Given the description of an element on the screen output the (x, y) to click on. 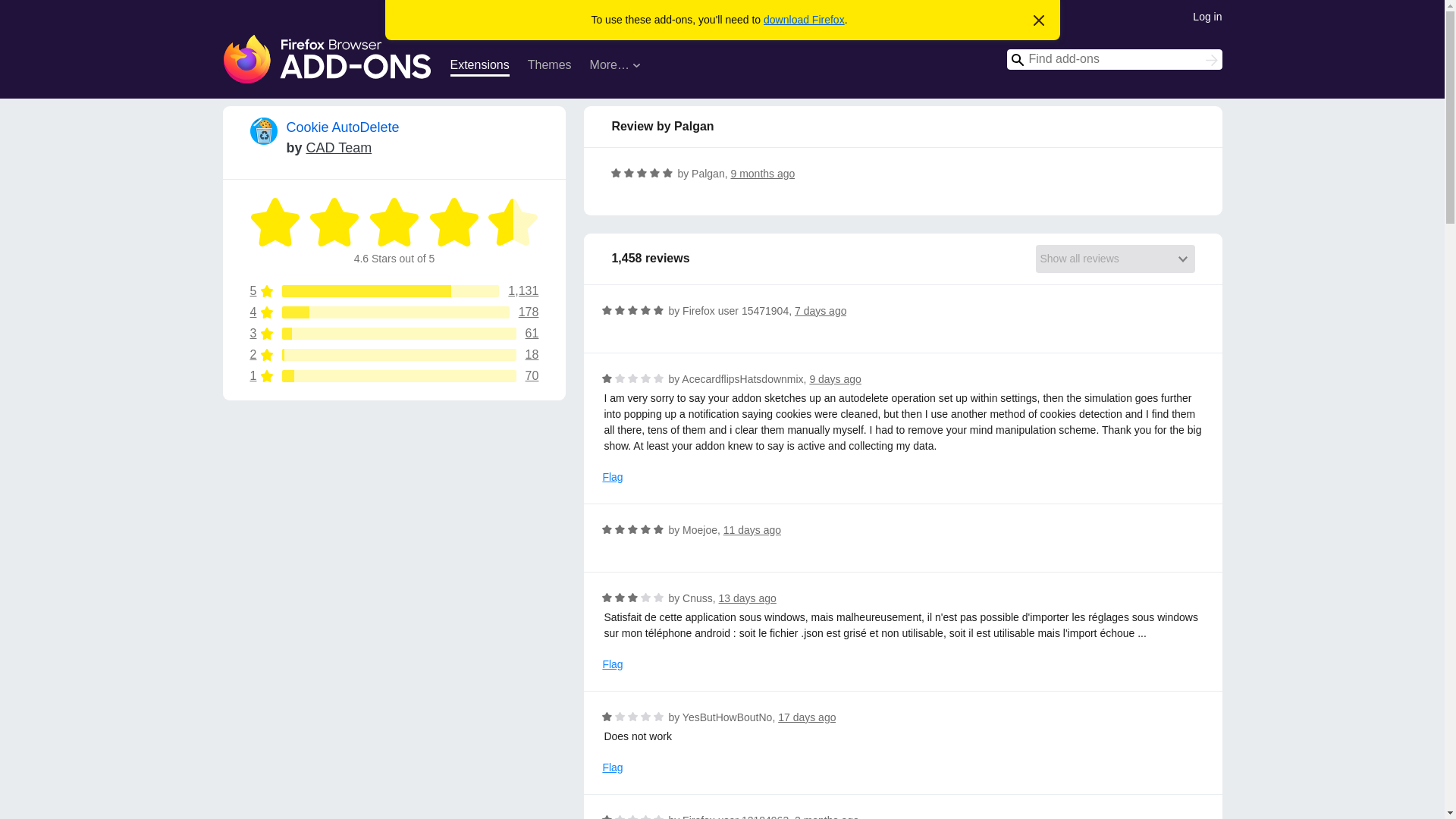
Flag (612, 664)
11 days ago (394, 312)
Rated 4.6 out of 5 (751, 530)
Nov 10, 2023 6:37 PM (333, 222)
Extensions (762, 173)
Rated 4.6 out of 5 (479, 66)
9 months ago (275, 222)
17 days ago (762, 173)
Read all 178 four-star reviews (806, 717)
Flag (394, 312)
Flag (612, 477)
9 days ago (612, 767)
Read all 18 two-star reviews (835, 378)
Cookie AutoDelete (394, 354)
